Given the description of an element on the screen output the (x, y) to click on. 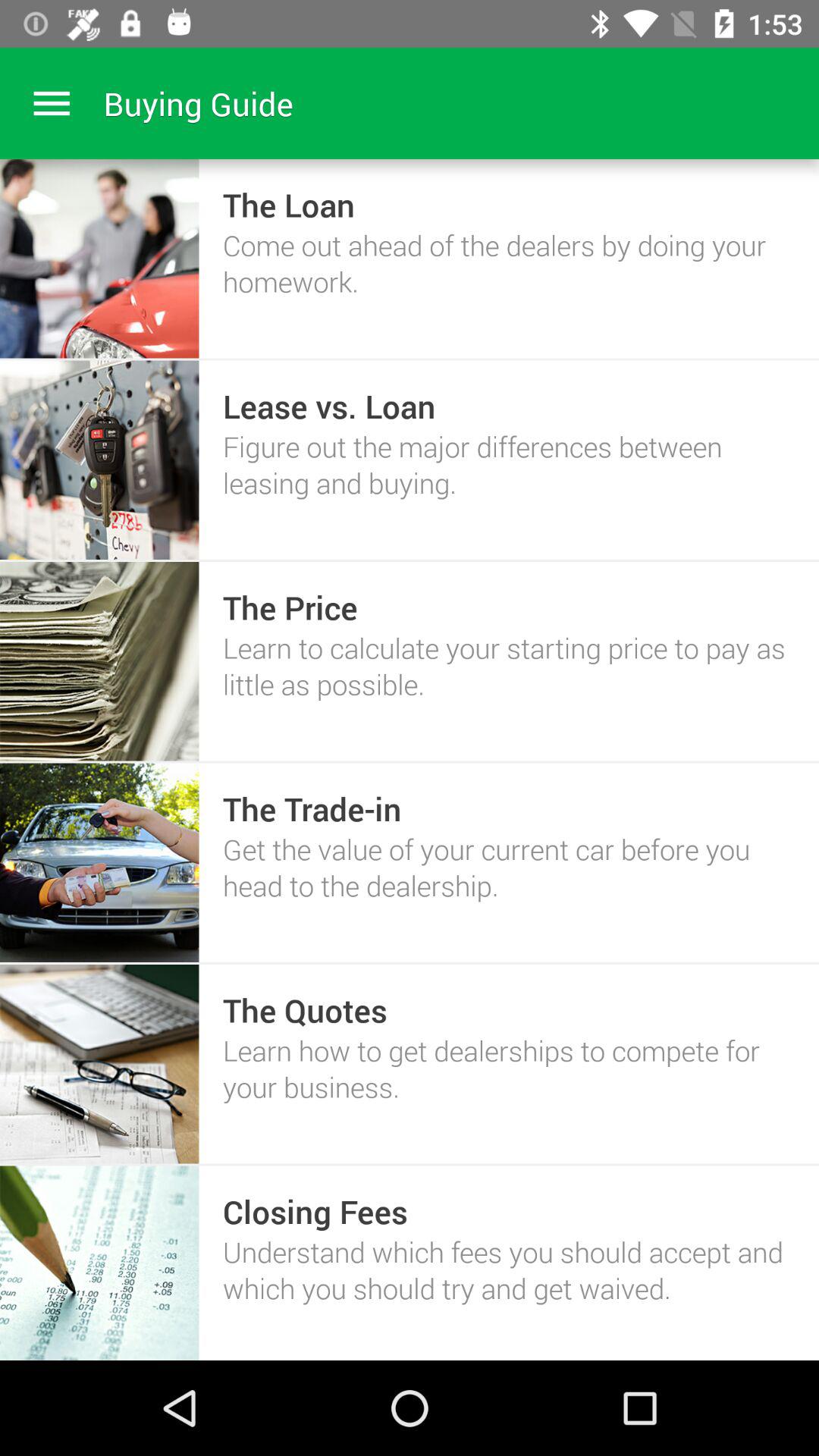
scroll to the closing fees icon (314, 1211)
